Given the description of an element on the screen output the (x, y) to click on. 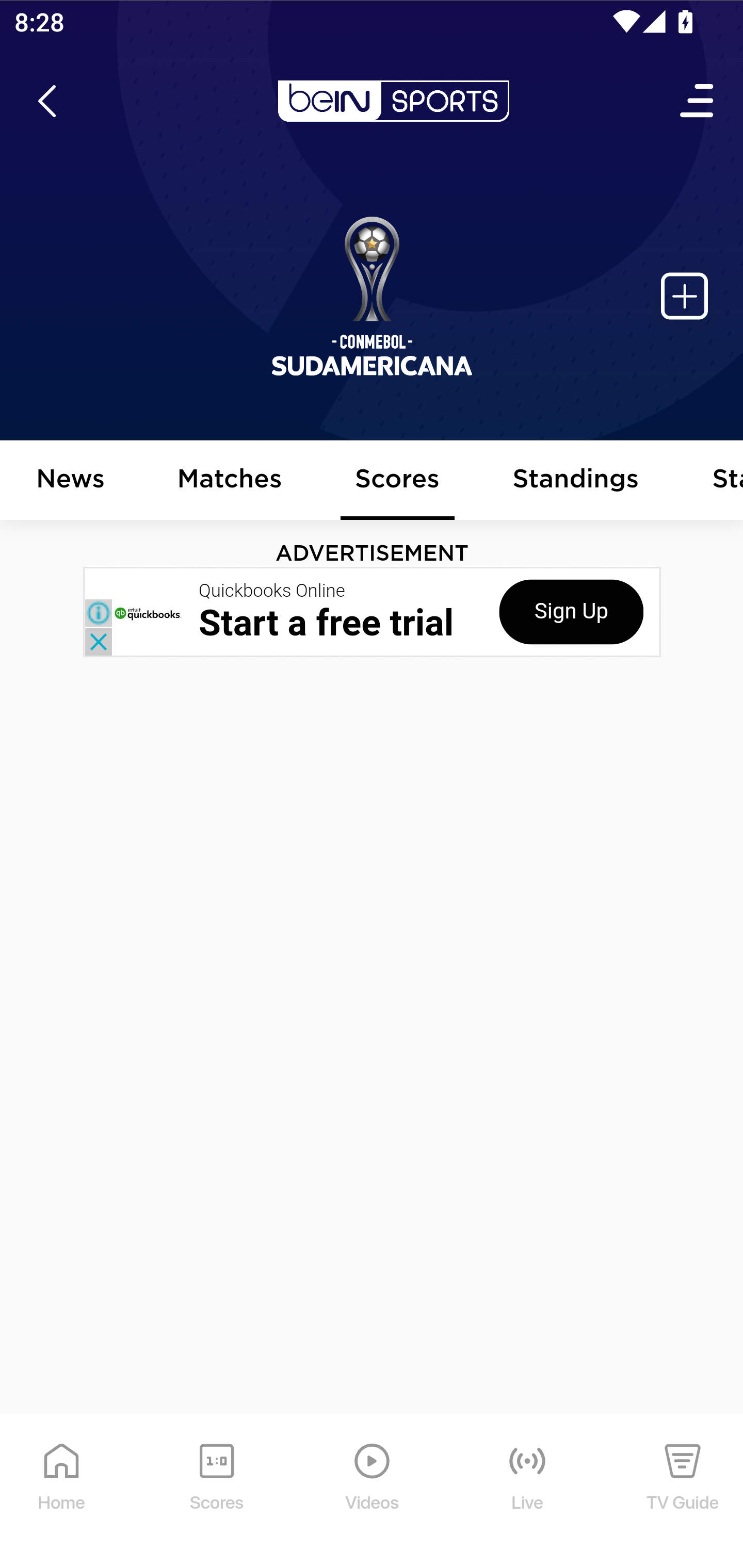
en-us?platform=mobile_android bein logo white (392, 101)
icon back (46, 101)
Open Menu Icon (697, 101)
News (70, 480)
Matches (229, 480)
Scores (397, 480)
Standings (575, 480)
Quickbooks Online (272, 590)
Sign Up (571, 611)
Start a free trial (326, 623)
Home Home Icon Home (61, 1491)
Scores Scores Icon Scores (216, 1491)
Videos Videos Icon Videos (372, 1491)
TV Guide TV Guide Icon TV Guide (682, 1491)
